Given the description of an element on the screen output the (x, y) to click on. 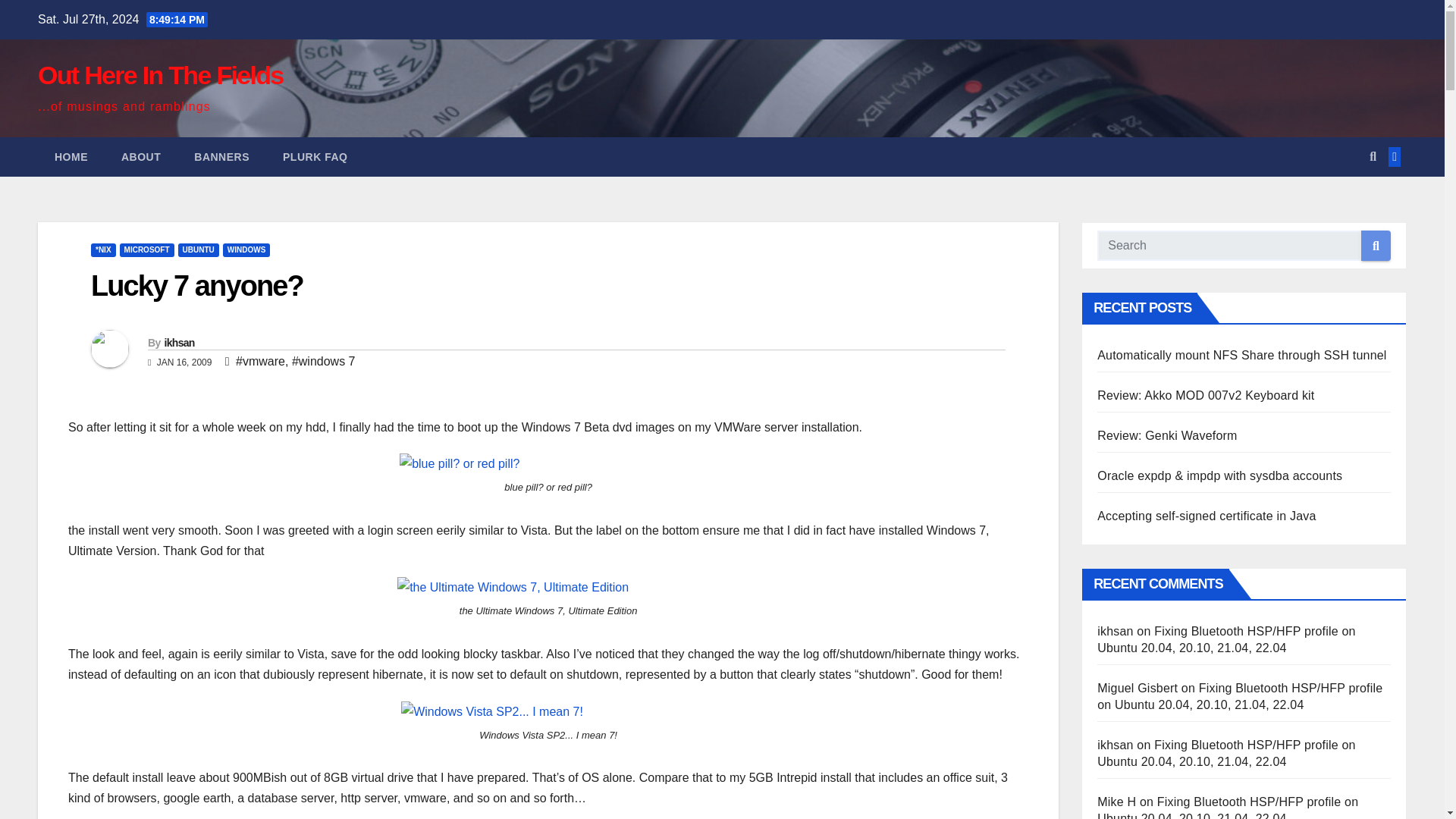
UBUNTU (198, 250)
Permalink to: Lucky 7 anyone? (196, 286)
Home (70, 156)
ABOUT (140, 156)
HOME (70, 156)
Out Here In The Fields (159, 74)
blue pill? or red pill? (458, 463)
the Ultimate Windows 7, Ultimate Edition (512, 587)
BANNERS (221, 156)
Lucky 7 anyone? (196, 286)
PLURK FAQ (315, 156)
WINDOWS (246, 250)
MICROSOFT (146, 250)
ikhsan (178, 342)
Windows Vista SP2... I mean 7! (492, 711)
